Given the description of an element on the screen output the (x, y) to click on. 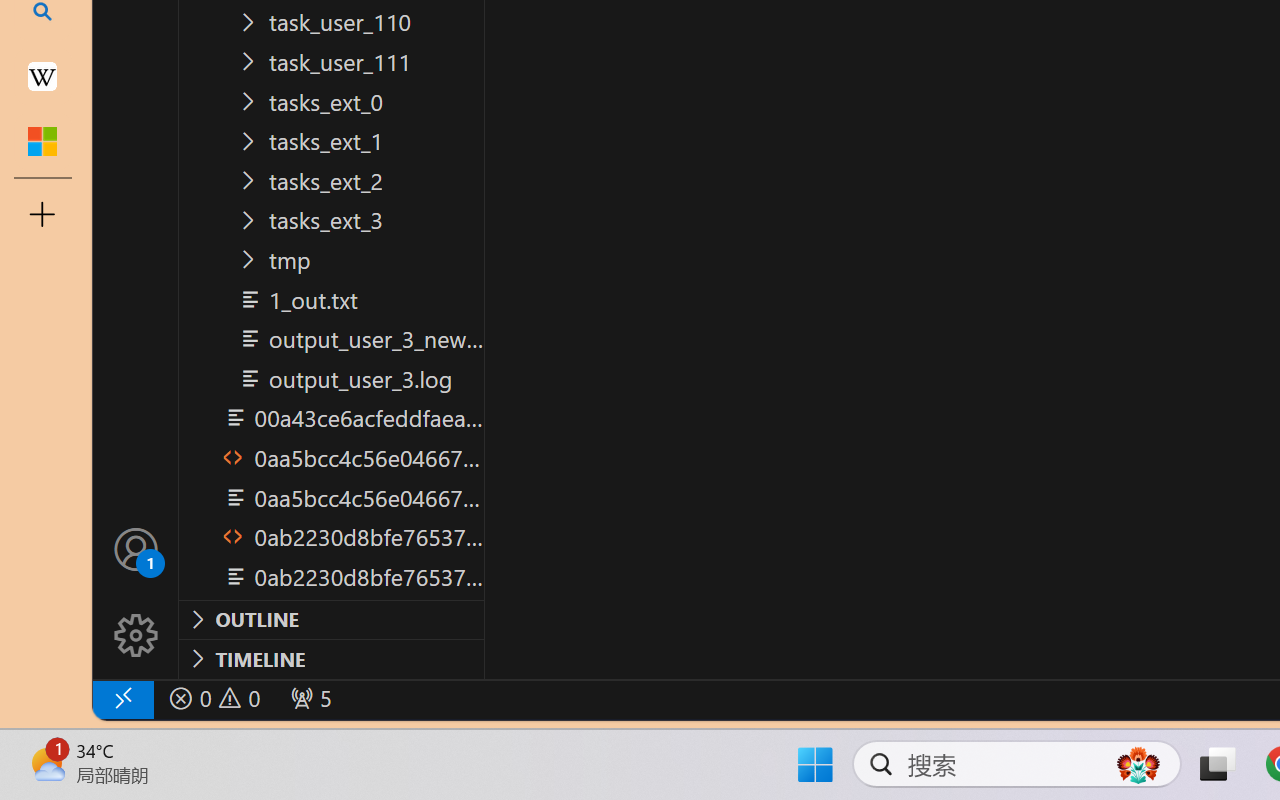
Timeline Section (331, 658)
No Problems (212, 698)
